Given the description of an element on the screen output the (x, y) to click on. 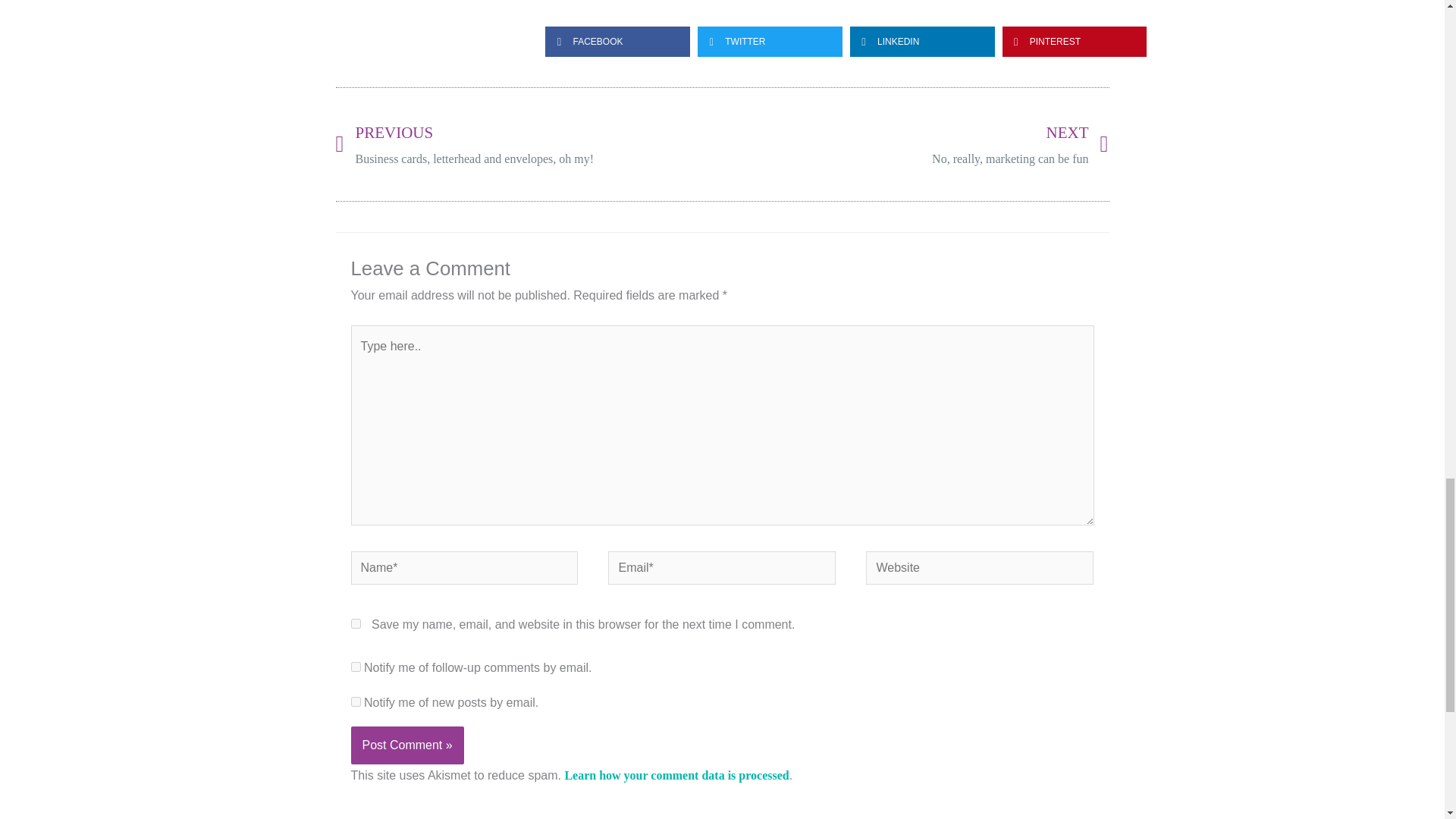
subscribe (354, 666)
Learn how your comment data is processed (676, 775)
subscribe (354, 701)
yes (354, 623)
